Given the description of an element on the screen output the (x, y) to click on. 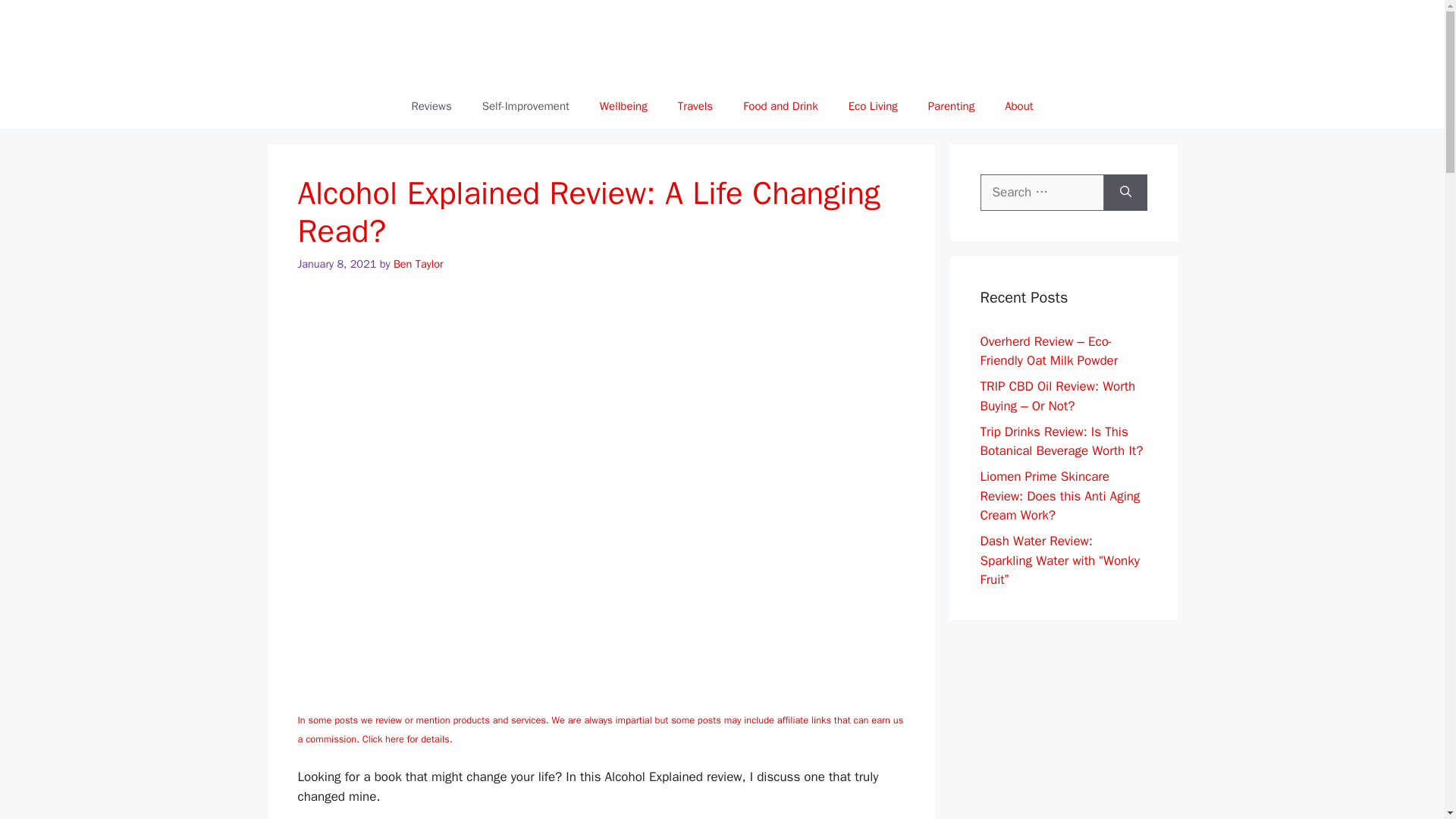
About (1019, 105)
Self-Improvement (526, 105)
Trip Drinks Review: Is This Botanical Beverage Worth It? (1060, 440)
Ben Taylor (418, 264)
Food and Drink (780, 105)
Reviews (430, 105)
Eco Living (872, 105)
Travels (695, 105)
View all posts by Ben Taylor (418, 264)
